Given the description of an element on the screen output the (x, y) to click on. 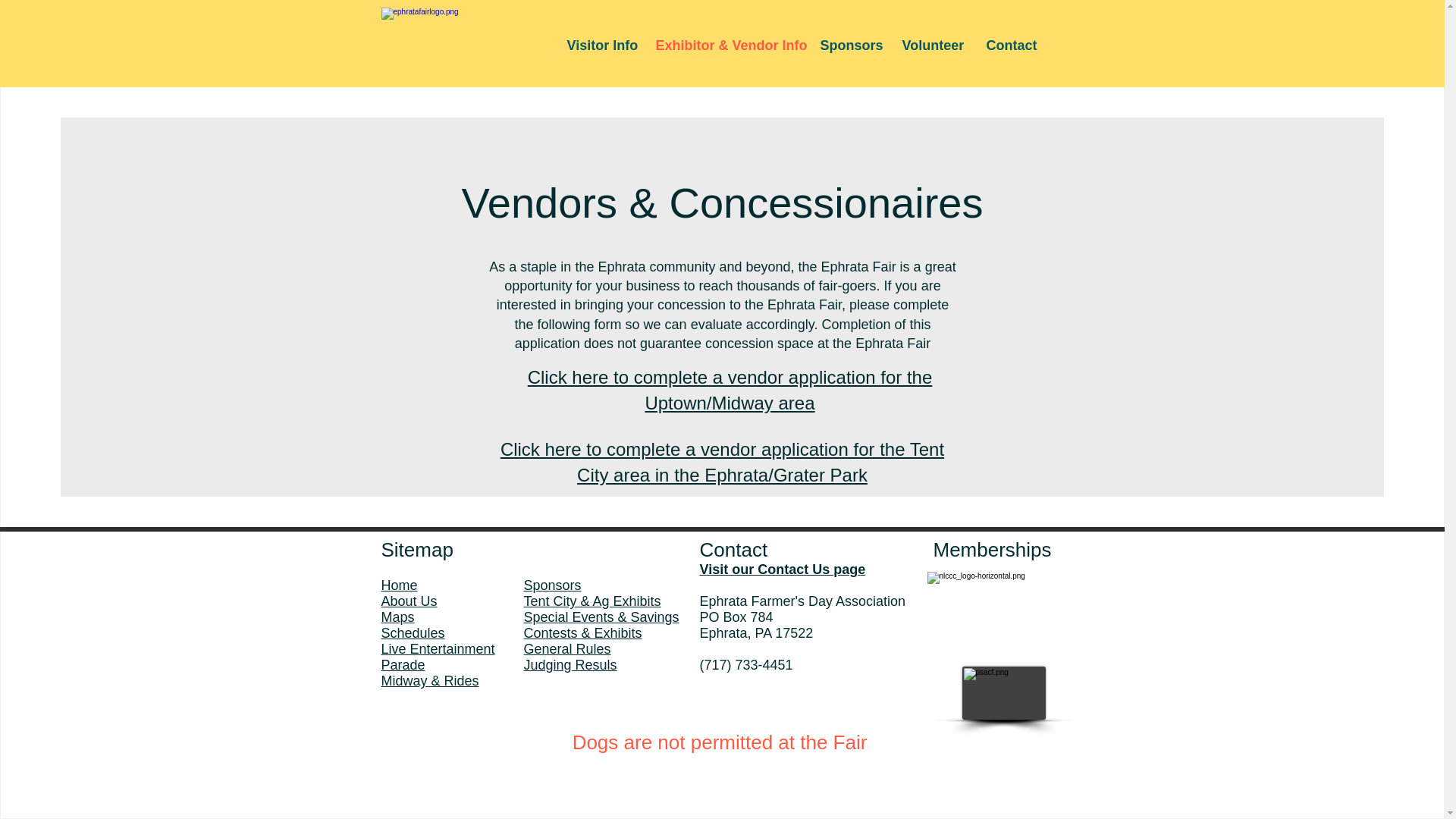
Parade (402, 664)
Contact (1011, 45)
Visitor Info (598, 45)
Sponsors (848, 45)
Maps (396, 616)
Sponsors (551, 585)
Schedules (412, 632)
General Rules (566, 648)
About Us (408, 601)
Home (398, 585)
Volunteer (931, 45)
Live Entertainment (437, 648)
Visit our Contact Us page (781, 569)
Judging Resuls (568, 664)
